Given the description of an element on the screen output the (x, y) to click on. 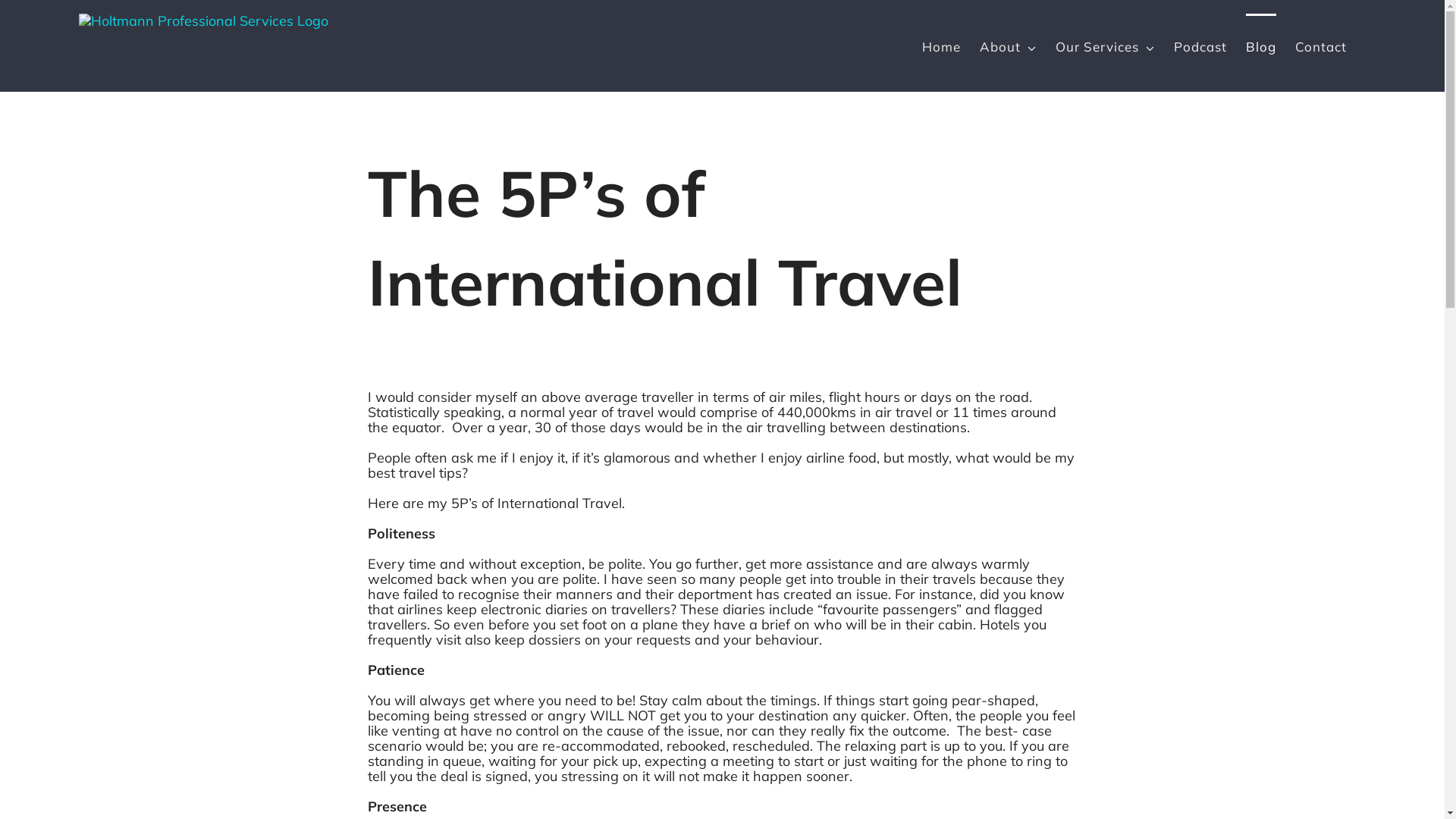
Home Element type: text (941, 45)
Podcast Element type: text (1199, 45)
Blog Element type: text (1260, 45)
Our Services Element type: text (1104, 45)
About Element type: text (1007, 45)
Contact Element type: text (1320, 45)
